Given the description of an element on the screen output the (x, y) to click on. 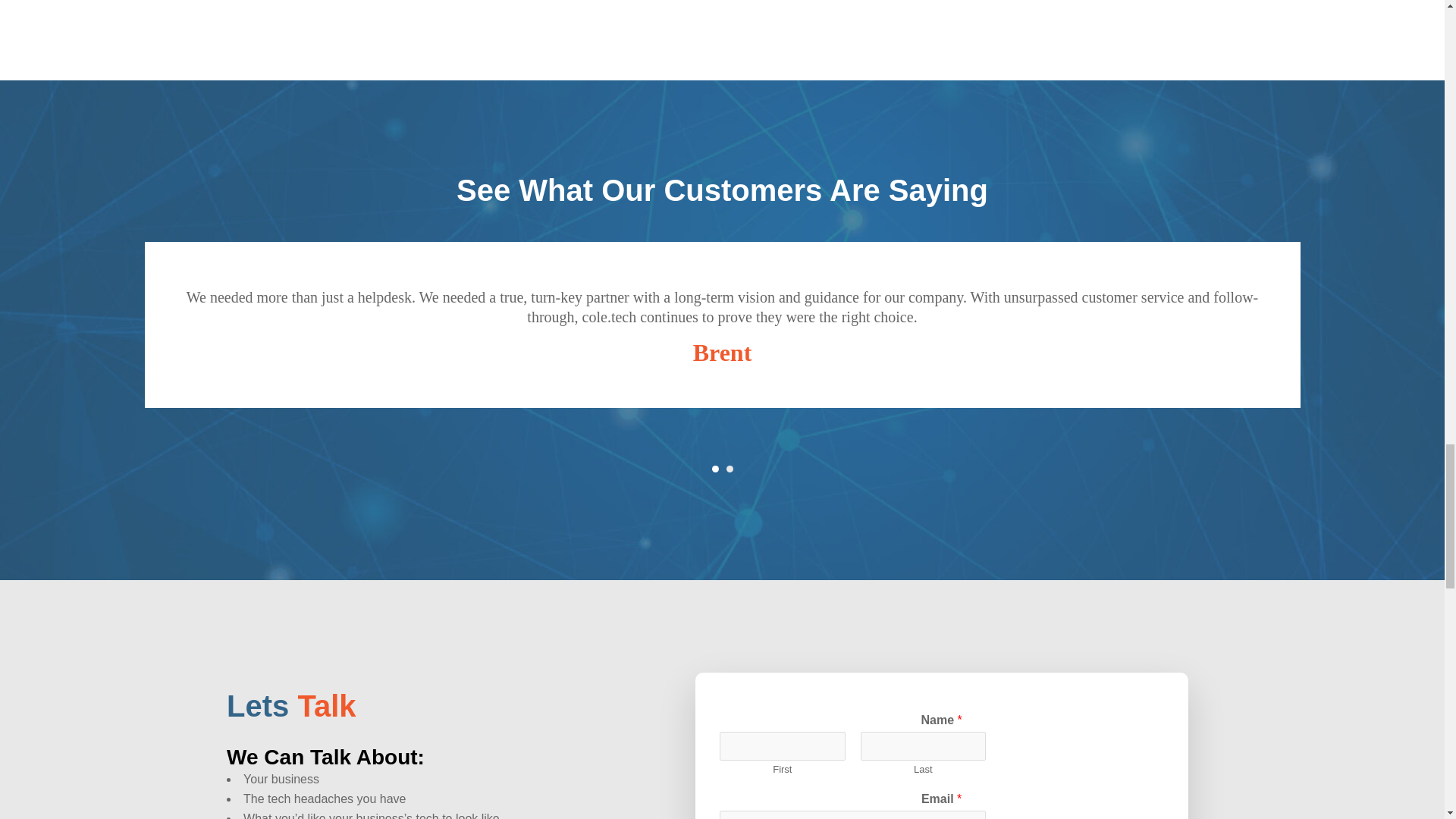
2 (729, 469)
1 (714, 469)
